Given the description of an element on the screen output the (x, y) to click on. 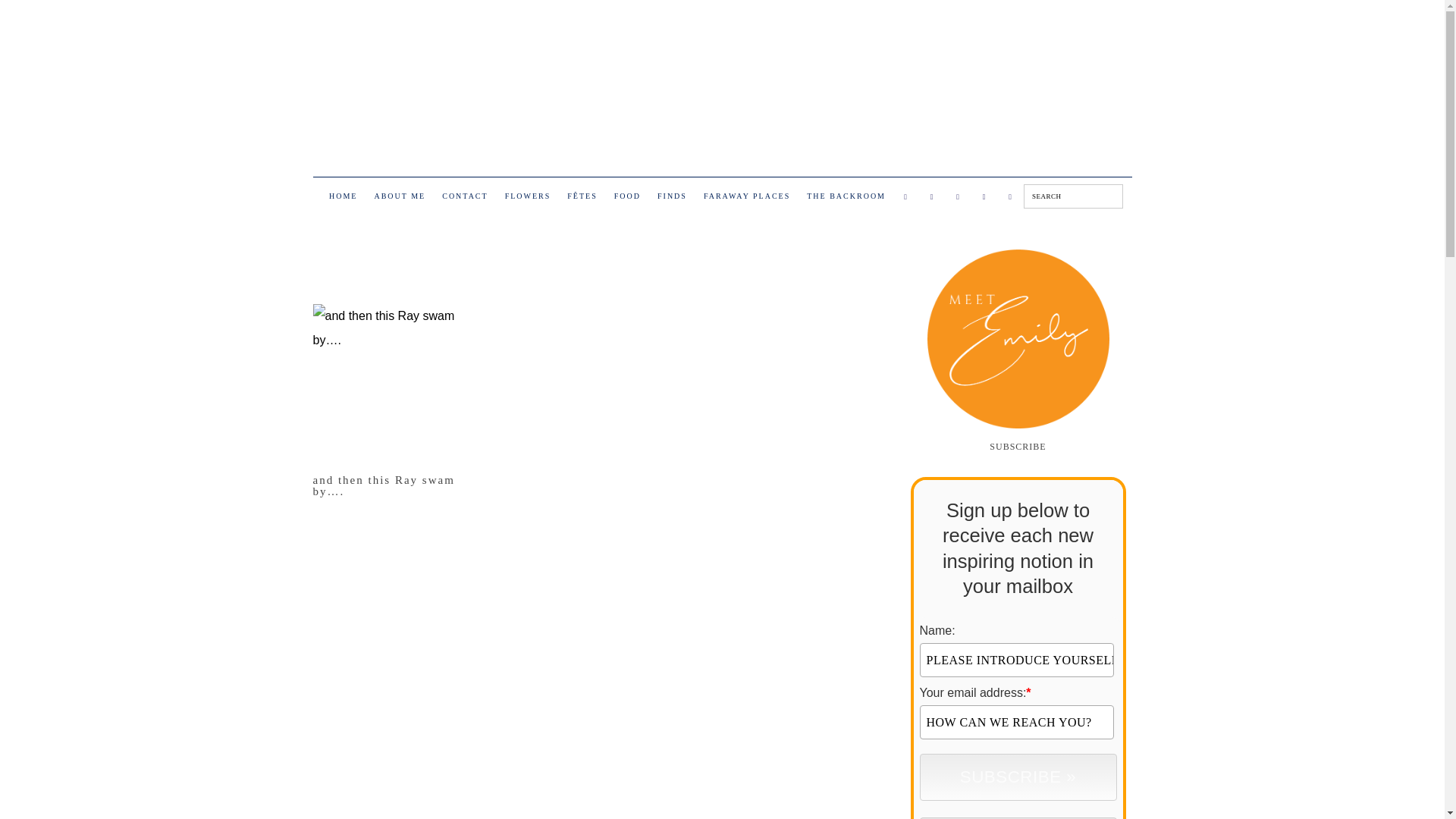
click to join (1017, 776)
FARAWAY PLACES (746, 198)
Friend me on Facebook (906, 197)
THE BACKROOM (846, 198)
Follow Me (931, 197)
CONTACT (464, 198)
HOME (343, 198)
Instagram (958, 197)
